Given the description of an element on the screen output the (x, y) to click on. 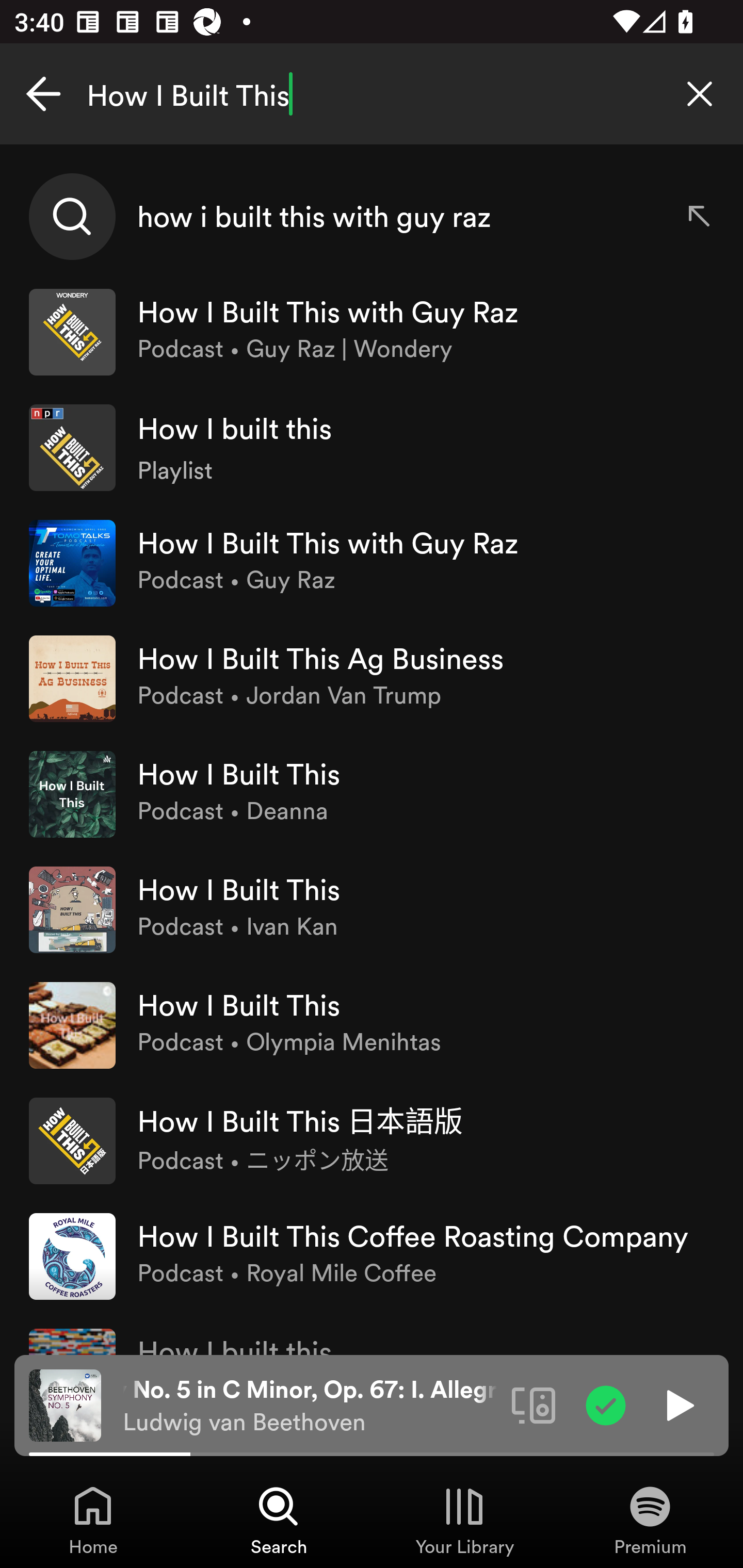
How I Built This (371, 93)
Cancel (43, 93)
Clear search query (699, 93)
how i built this with guy raz (371, 216)
How I built this Playlist (371, 447)
How I Built This with Guy Raz Podcast • Guy Raz (371, 562)
How I Built This Podcast • Deanna (371, 793)
How I Built This Podcast • Ivan Kan (371, 909)
How I Built This  Podcast • Olympia Menihtas (371, 1025)
How I Built This 日本語版 Podcast • ニッポン放送 (371, 1140)
The cover art of the currently playing track (64, 1404)
Connect to a device. Opens the devices menu (533, 1404)
Item added (605, 1404)
Play (677, 1404)
Home, Tab 1 of 4 Home Home (92, 1519)
Search, Tab 2 of 4 Search Search (278, 1519)
Your Library, Tab 3 of 4 Your Library Your Library (464, 1519)
Premium, Tab 4 of 4 Premium Premium (650, 1519)
